Given the description of an element on the screen output the (x, y) to click on. 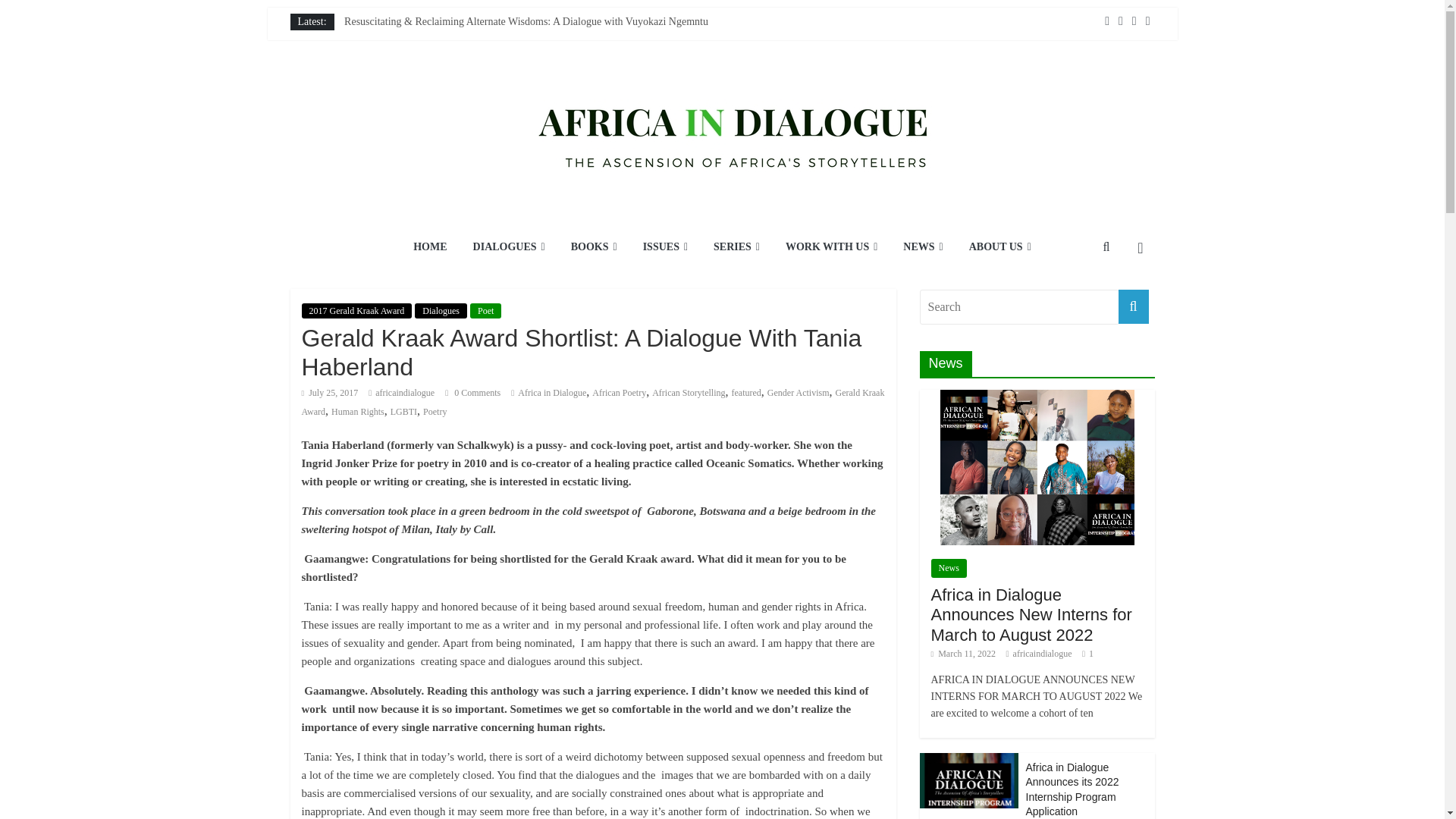
HOME (429, 248)
africaindialogue (404, 392)
ISSUES (664, 248)
BOOKS (593, 248)
10:20 am (329, 392)
SERIES (736, 248)
DIALOGUES (508, 248)
